Given the description of an element on the screen output the (x, y) to click on. 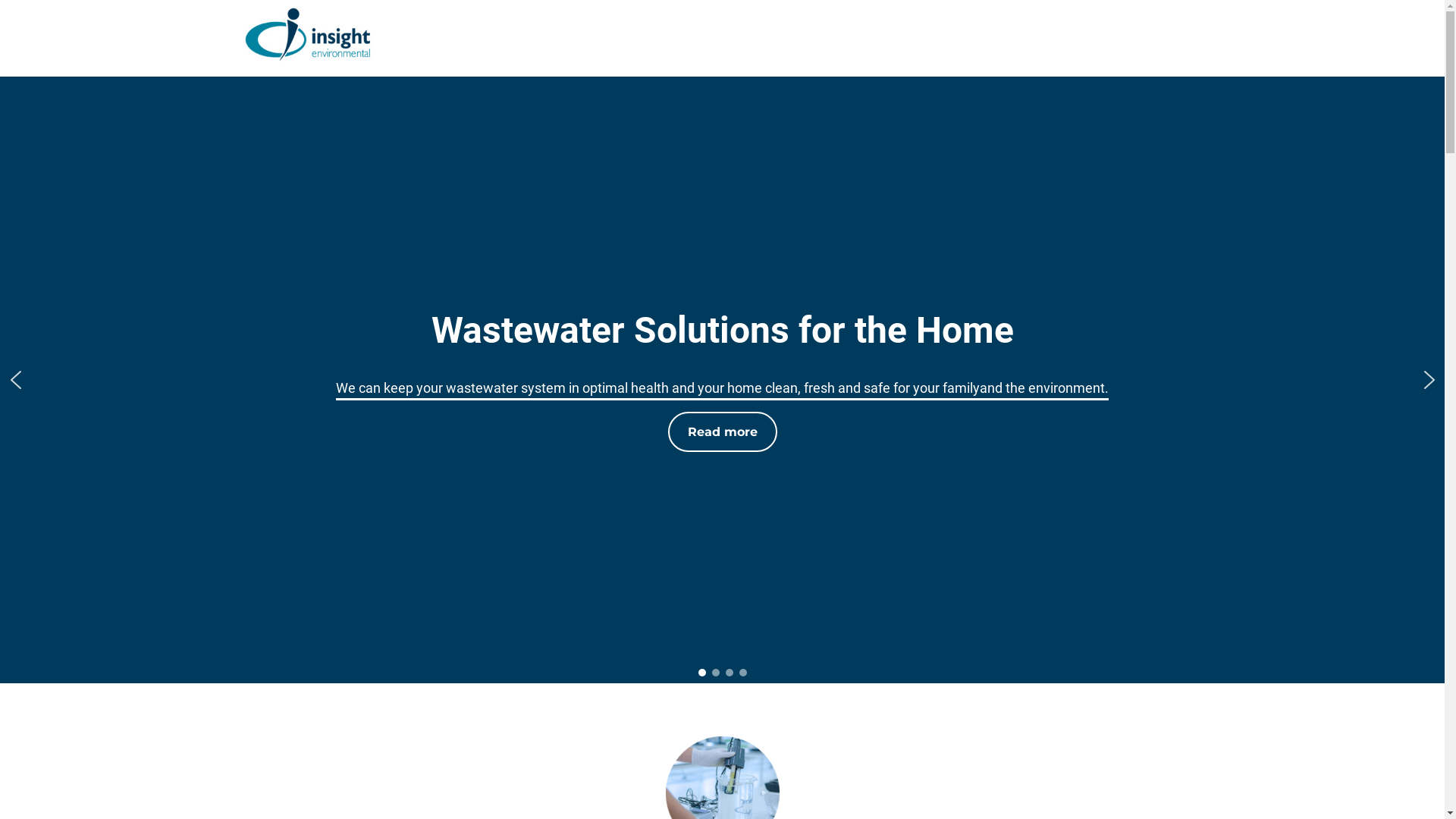
logo-insight-environmental Element type: hover (308, 34)
Read more Element type: text (721, 431)
